Given the description of an element on the screen output the (x, y) to click on. 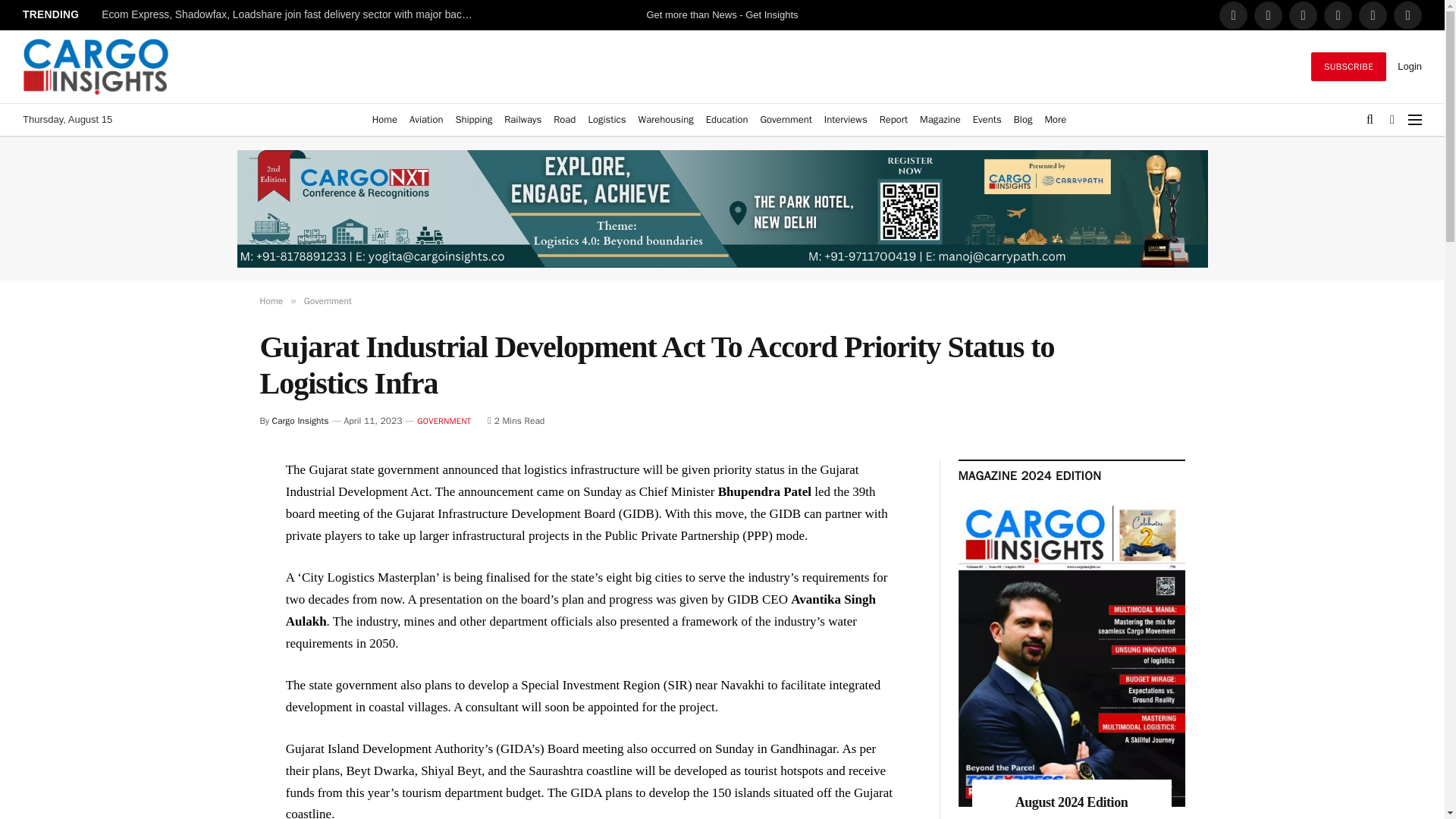
Login (1409, 66)
LinkedIn (1302, 15)
Aviation (425, 119)
Pinterest (1372, 15)
YouTube (1407, 15)
Home (384, 119)
Facebook (1233, 15)
SUBSCRIBE (1348, 66)
Cargo Insights (95, 66)
